Given the description of an element on the screen output the (x, y) to click on. 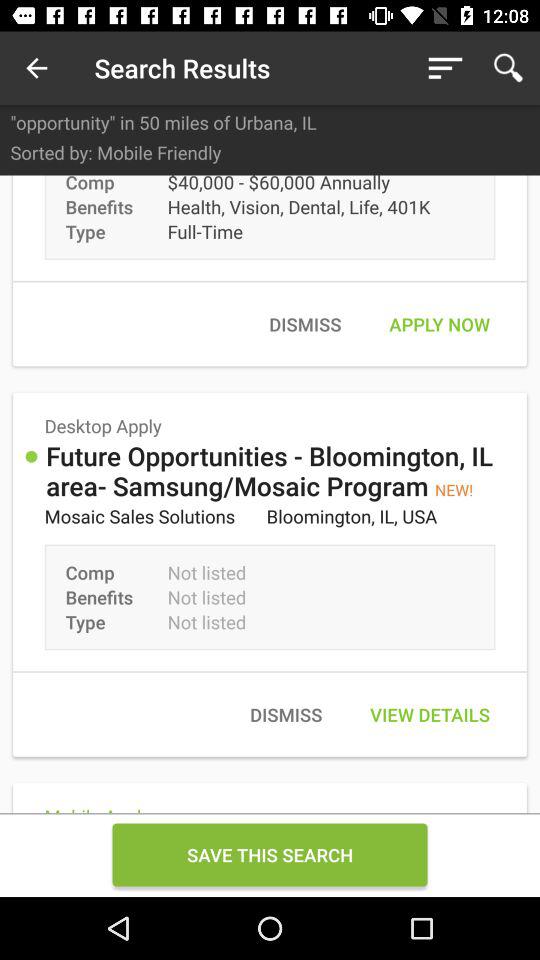
scroll until the save this search item (269, 854)
